Given the description of an element on the screen output the (x, y) to click on. 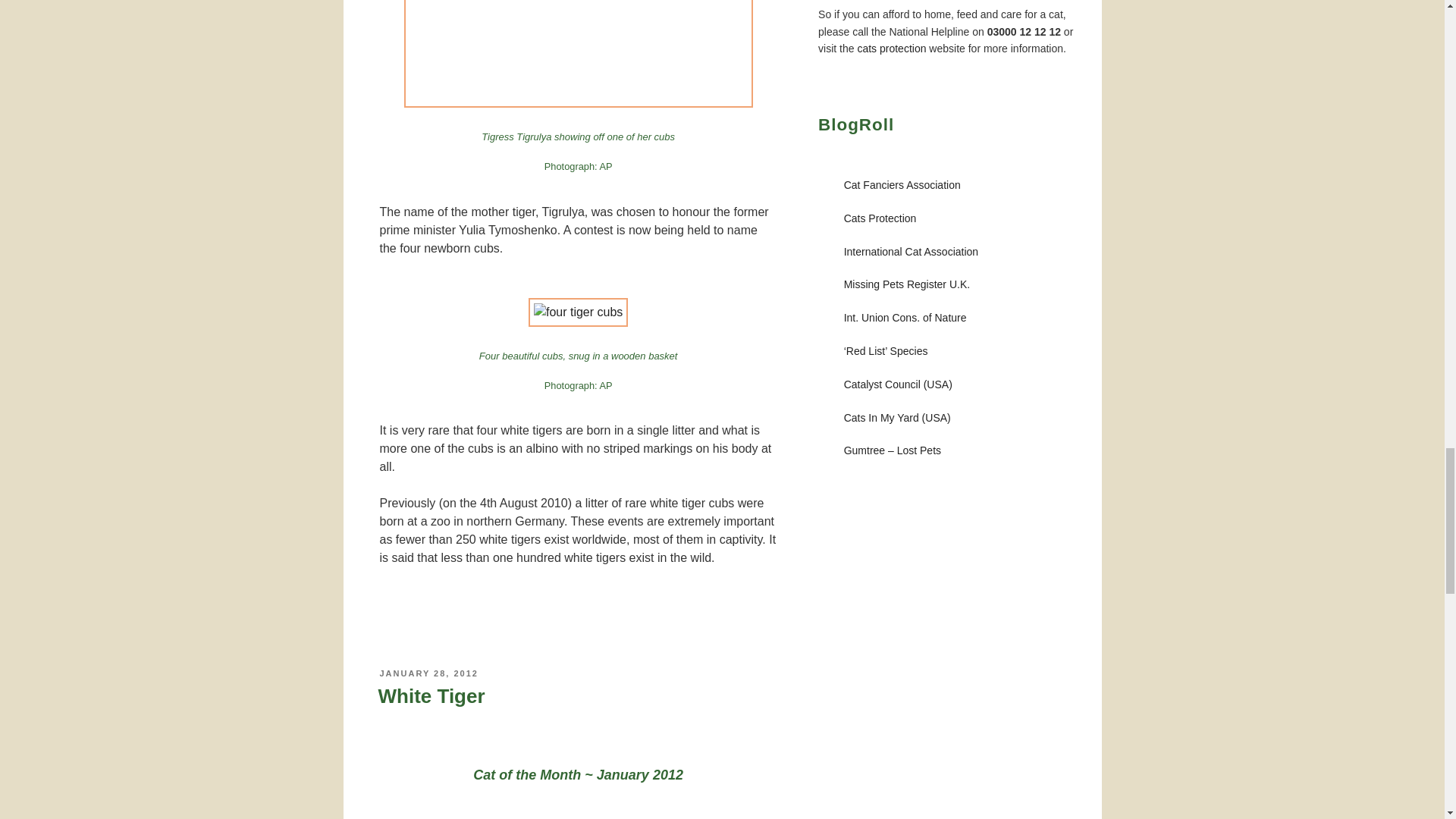
link to lost cats and dogs list (892, 450)
White Tiger (430, 695)
link to cats protection website (891, 48)
JANUARY 28, 2012 (427, 673)
